Given the description of an element on the screen output the (x, y) to click on. 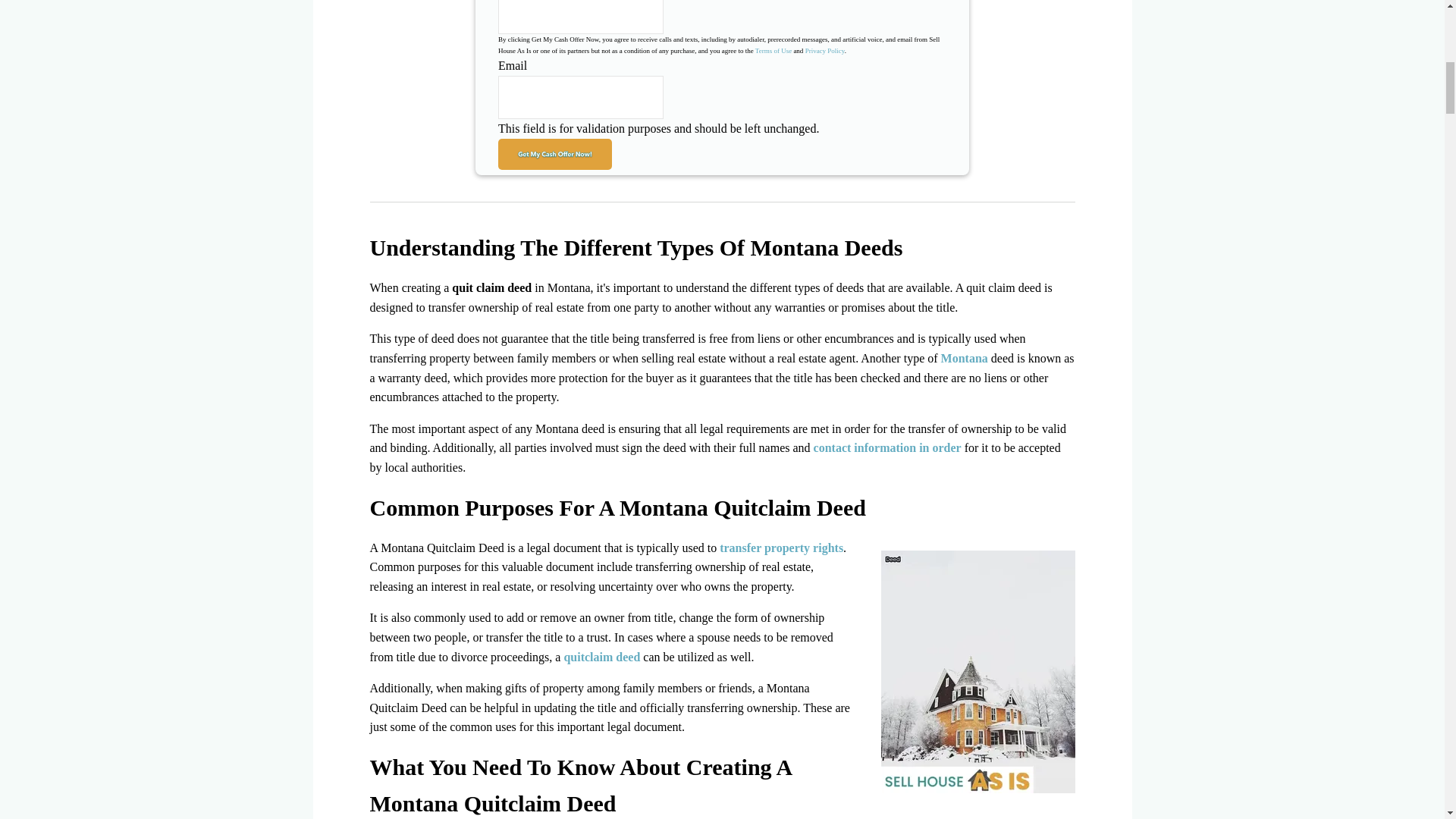
Privacy Policy (824, 50)
quitclaim deed (601, 656)
Terms of Use (773, 50)
transfer property rights (781, 547)
Montana (962, 358)
contact information in order (886, 447)
